Given the description of an element on the screen output the (x, y) to click on. 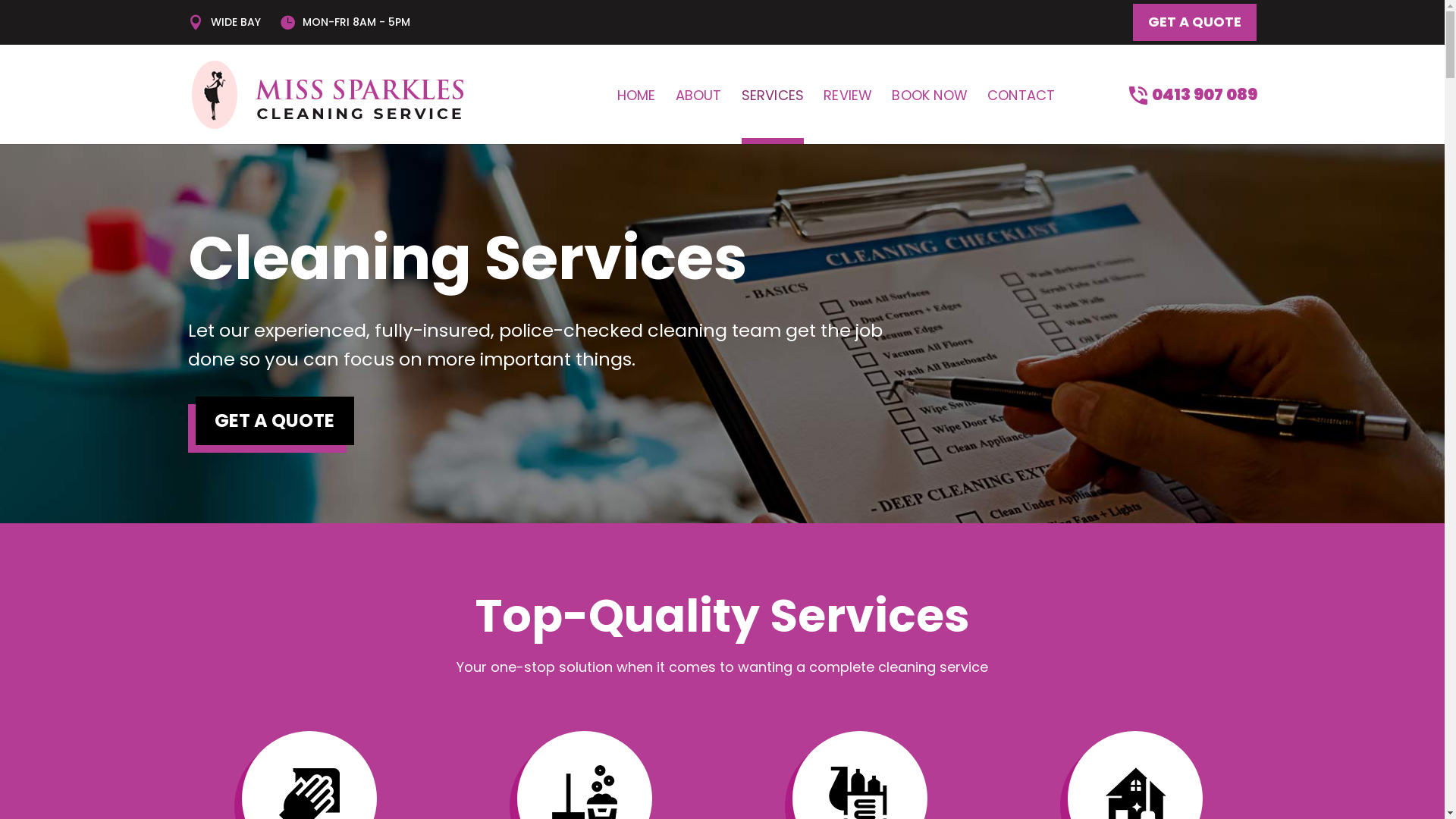
HOME Element type: text (636, 116)
0413 907 089 Element type: text (1192, 115)
GET A QUOTE Element type: text (274, 420)
SERVICES Element type: text (772, 116)
BOOK NOW Element type: text (929, 116)
CONTACT Element type: text (1020, 116)
GET A QUOTE Element type: text (1194, 21)
ABOUT Element type: text (698, 116)
REVIEW Element type: text (847, 116)
